Given the description of an element on the screen output the (x, y) to click on. 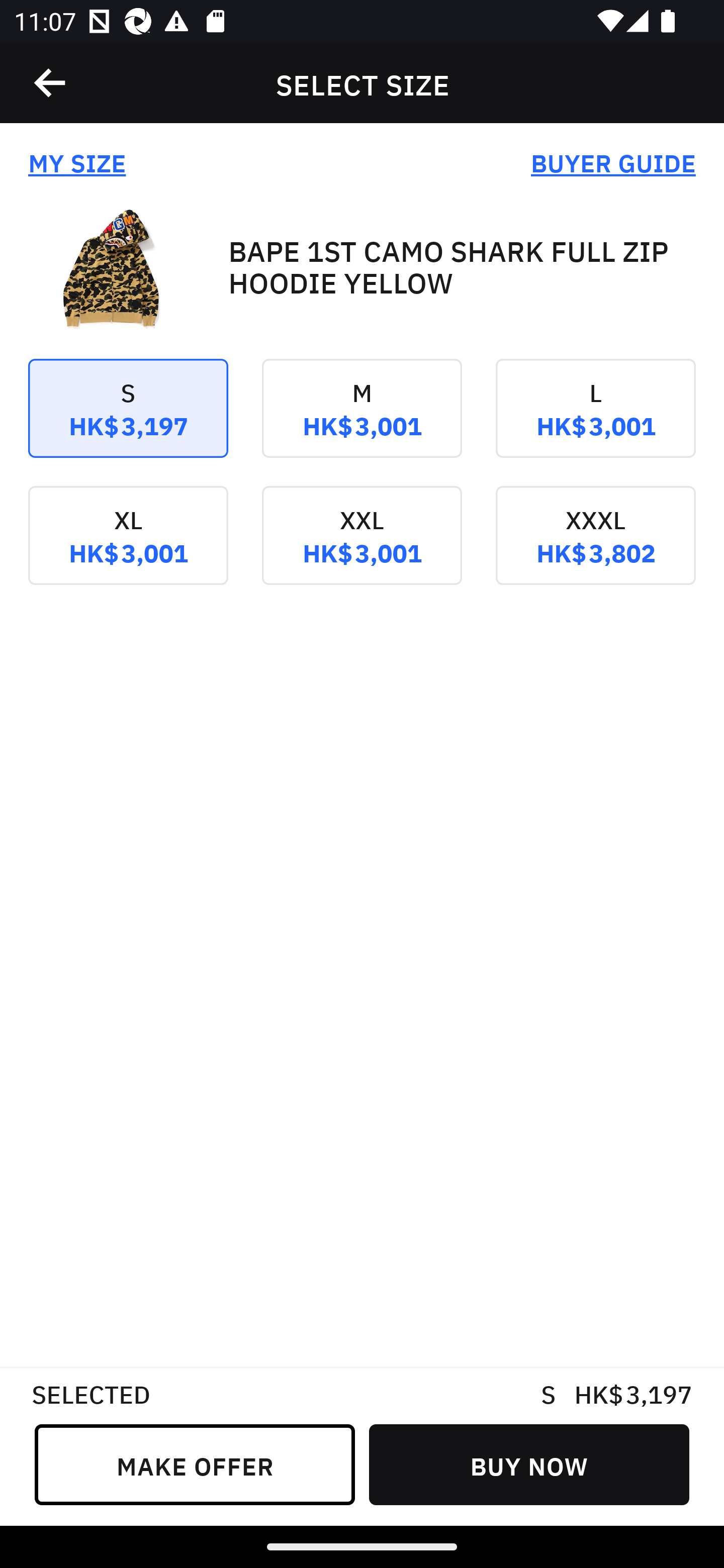
 (50, 83)
S HK$ 3,197 (128, 422)
M HK$ 3,001 (361, 422)
L HK$ 3,001 (595, 422)
XL HK$ 3,001 (128, 549)
XXL HK$ 3,001 (361, 549)
XXXL HK$ 3,802 (595, 549)
MAKE OFFER (194, 1464)
BUY NOW (529, 1464)
